Given the description of an element on the screen output the (x, y) to click on. 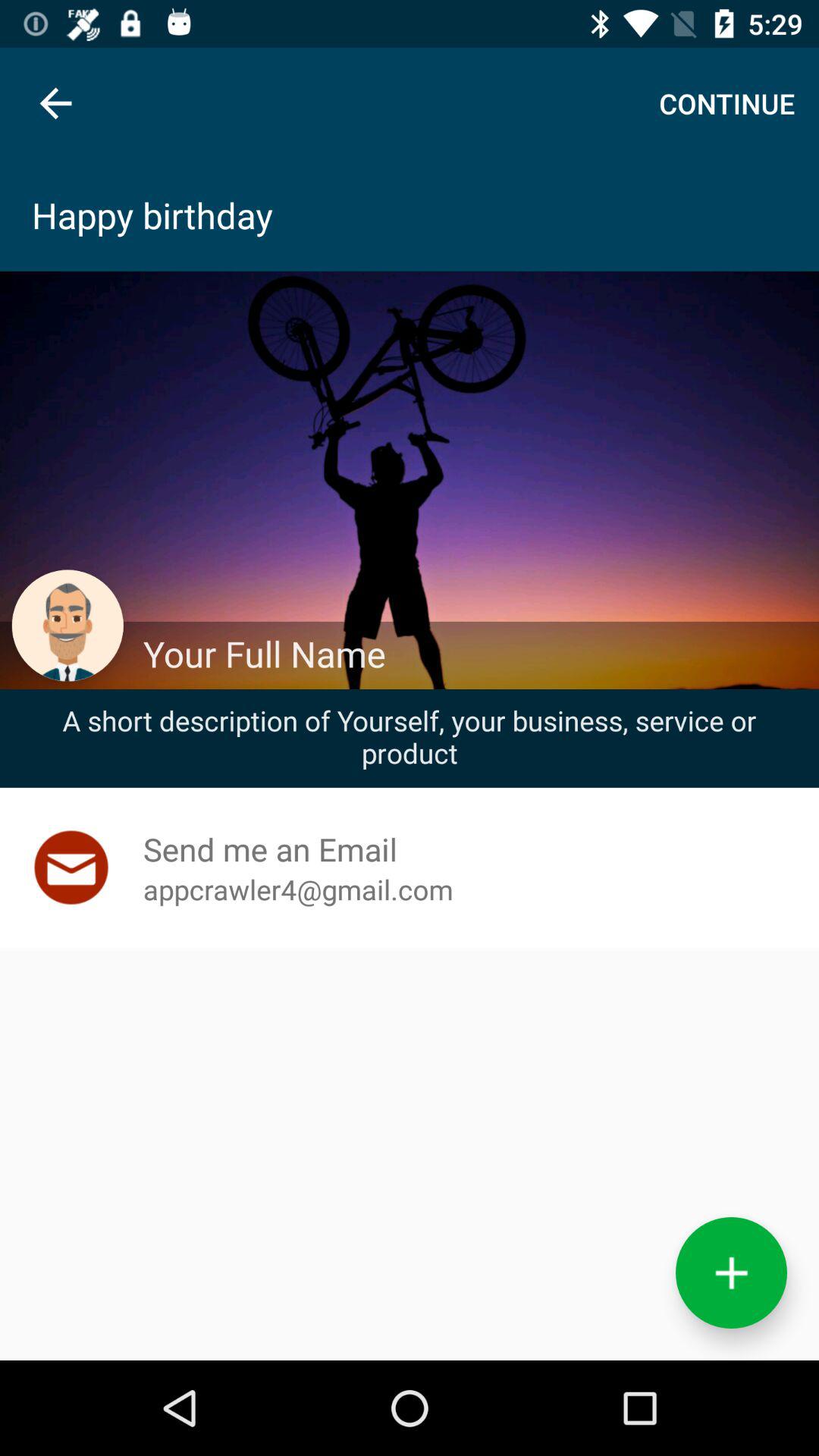
choose the item next to the continue (55, 103)
